Given the description of an element on the screen output the (x, y) to click on. 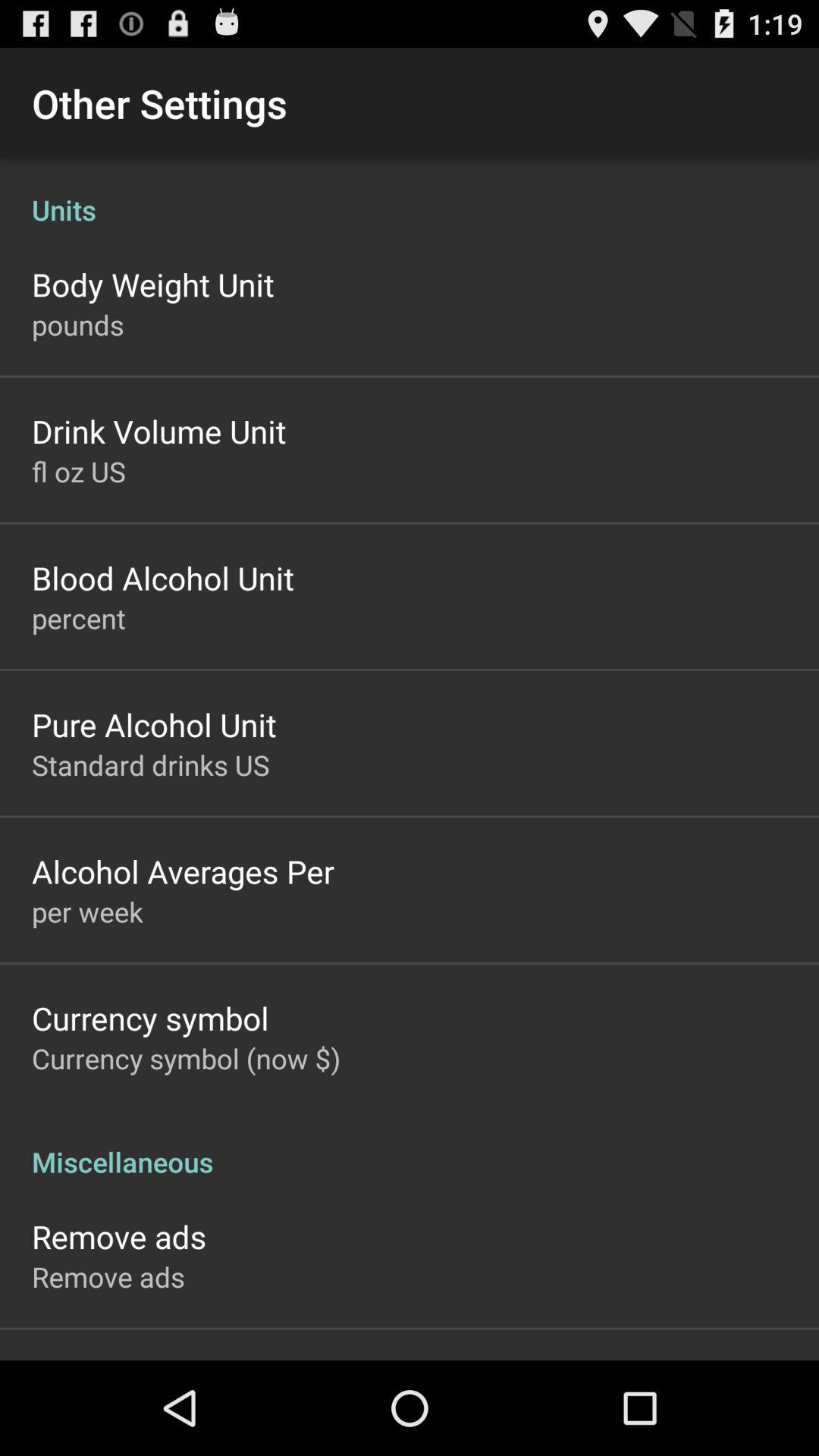
choose item below the other settings item (409, 193)
